Given the description of an element on the screen output the (x, y) to click on. 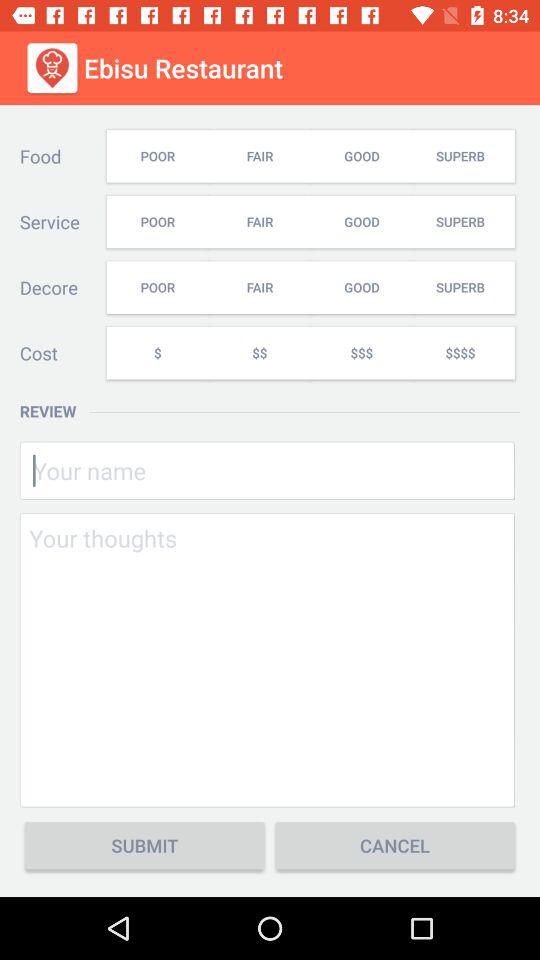
flip to the $$$ (361, 352)
